Given the description of an element on the screen output the (x, y) to click on. 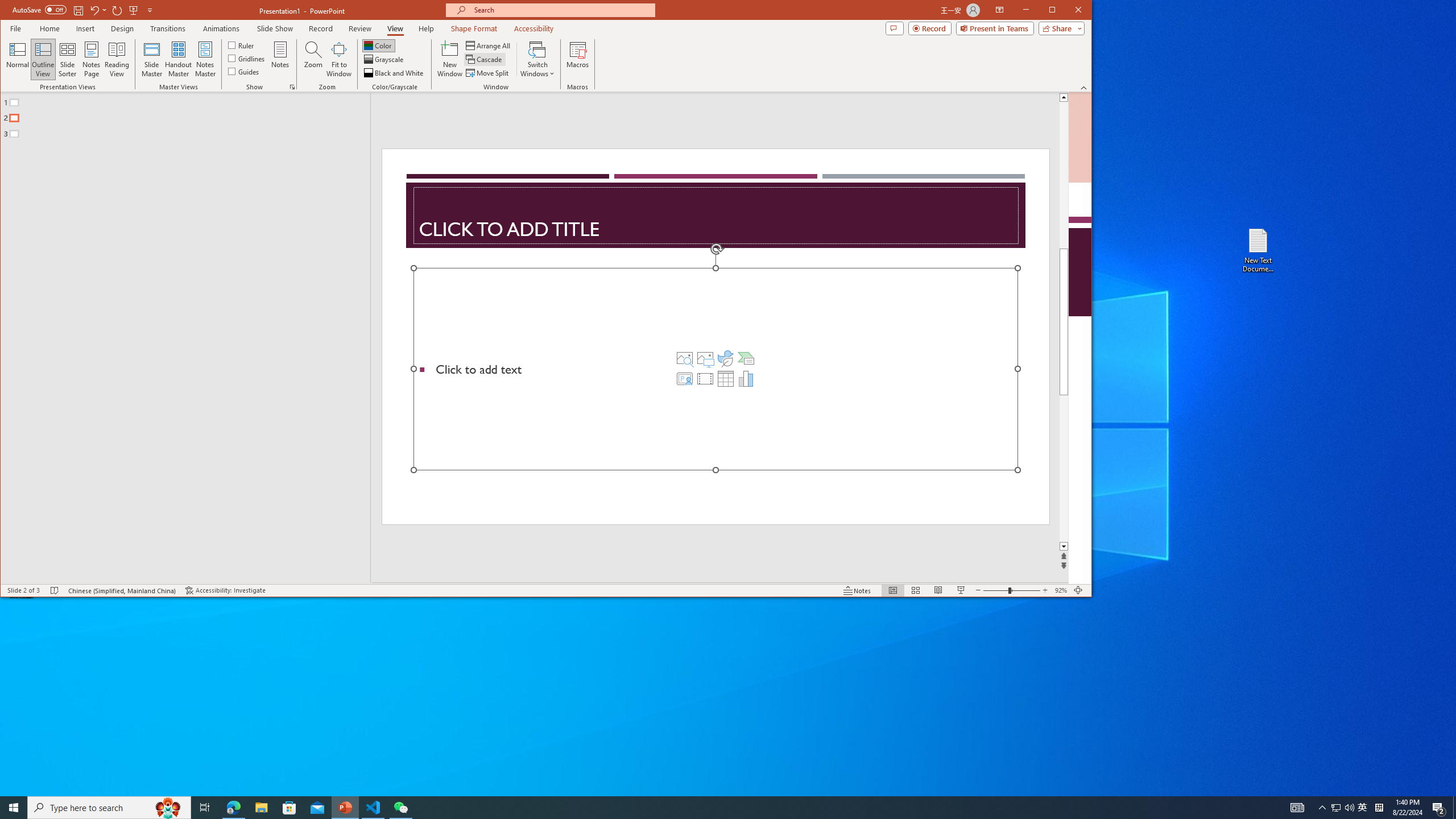
Cascade (484, 59)
Switch Windows (537, 59)
Notes Page (91, 59)
Maximize (1068, 11)
